Given the description of an element on the screen output the (x, y) to click on. 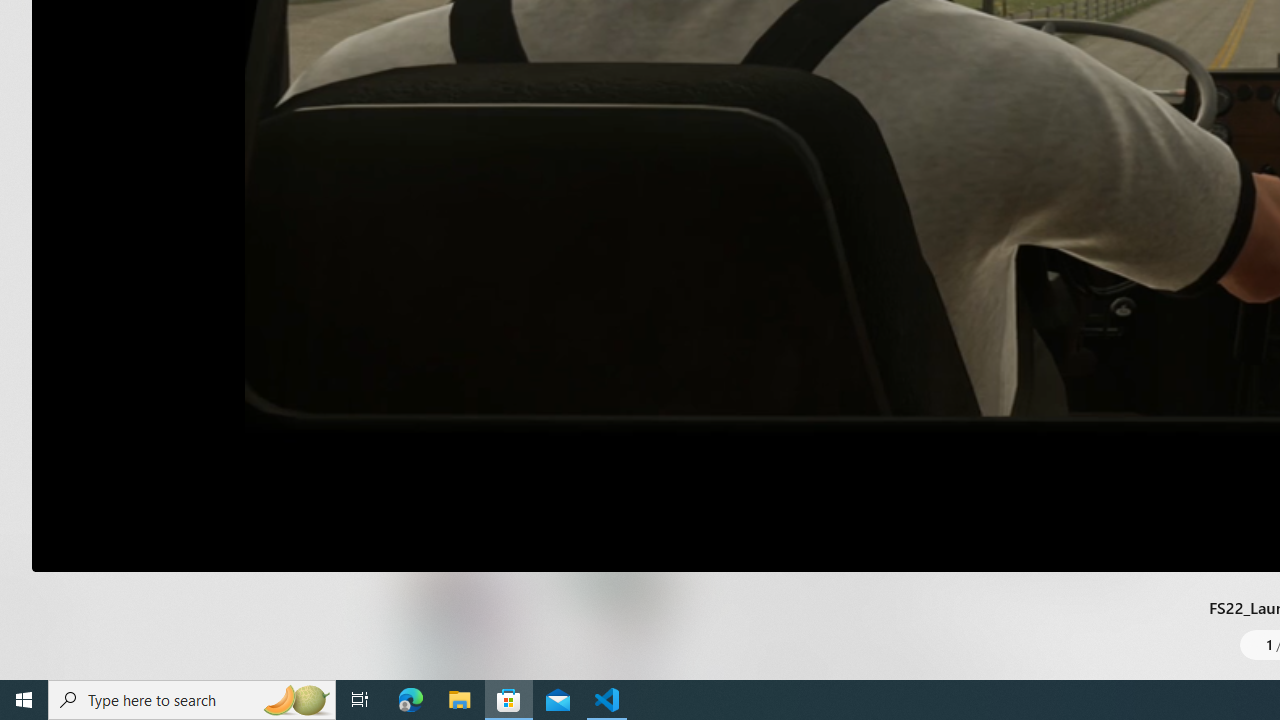
Farming Simulator 22 PC, Edition selector (791, 352)
Age rating: EVERYONE. Click for more information. (945, 226)
4.3 stars. Click to skip to ratings and reviews (689, 232)
Play with Game Pass (767, 421)
Library (35, 640)
Play Trailer (505, 293)
What's New (35, 578)
2022 (667, 177)
Buy (1000, 421)
GIANTS Software GmbH (753, 177)
